Given the description of an element on the screen output the (x, y) to click on. 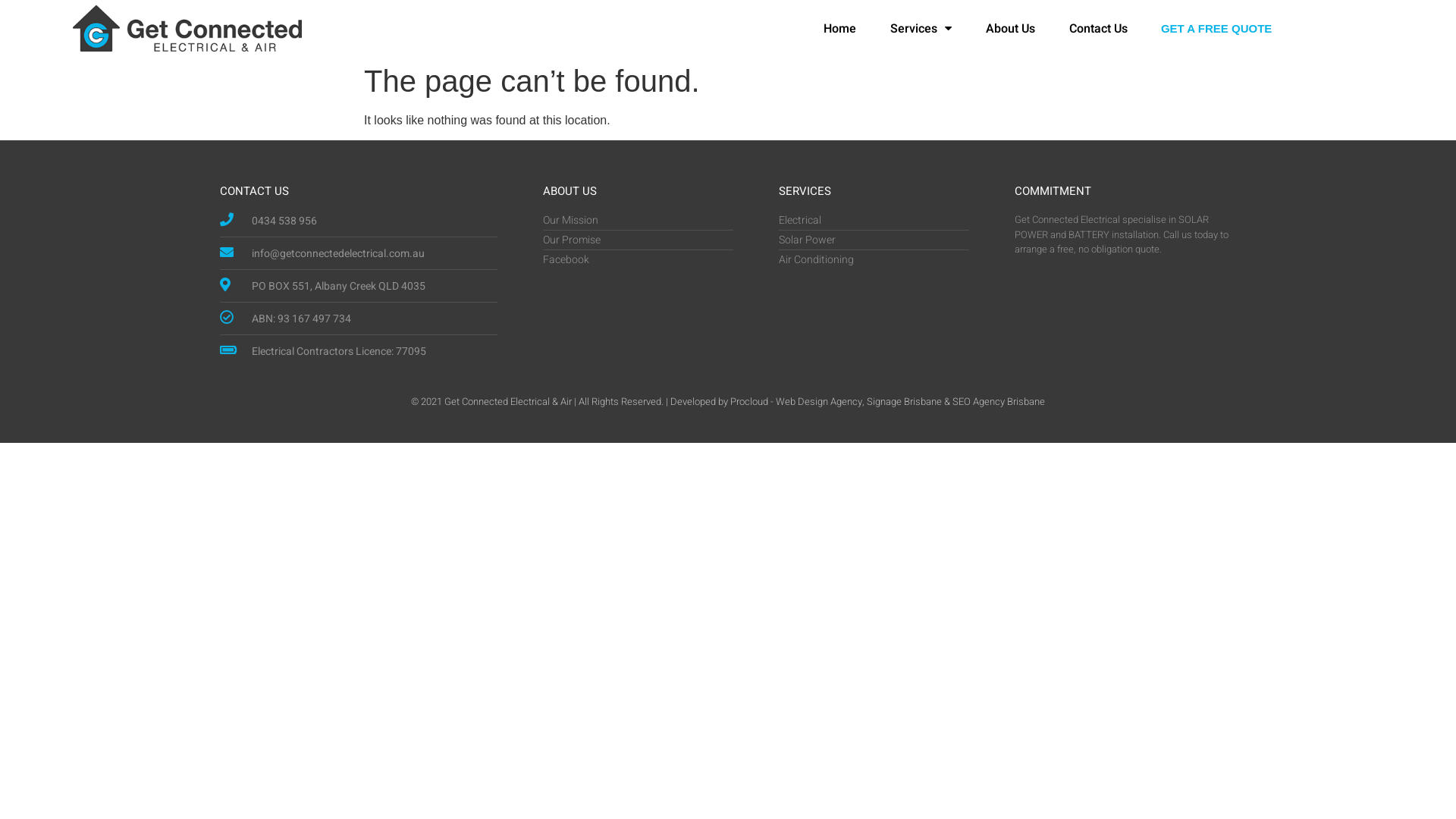
Procloud Element type: text (749, 401)
Our Promise Element type: text (637, 239)
Signage Brisbane Element type: text (903, 401)
GET A FREE QUOTE Element type: text (1215, 28)
Our Mission Element type: text (637, 220)
Electrical Element type: text (873, 220)
Web Design Agency Element type: text (818, 401)
About Us Element type: text (1010, 27)
Air Conditioning Element type: text (873, 259)
Solar Power Element type: text (873, 239)
SEO Agency Brisbane Element type: text (998, 401)
Home Element type: text (839, 27)
Facebook Element type: text (637, 259)
Contact Us Element type: text (1098, 27)
Services Element type: text (920, 27)
